Given the description of an element on the screen output the (x, y) to click on. 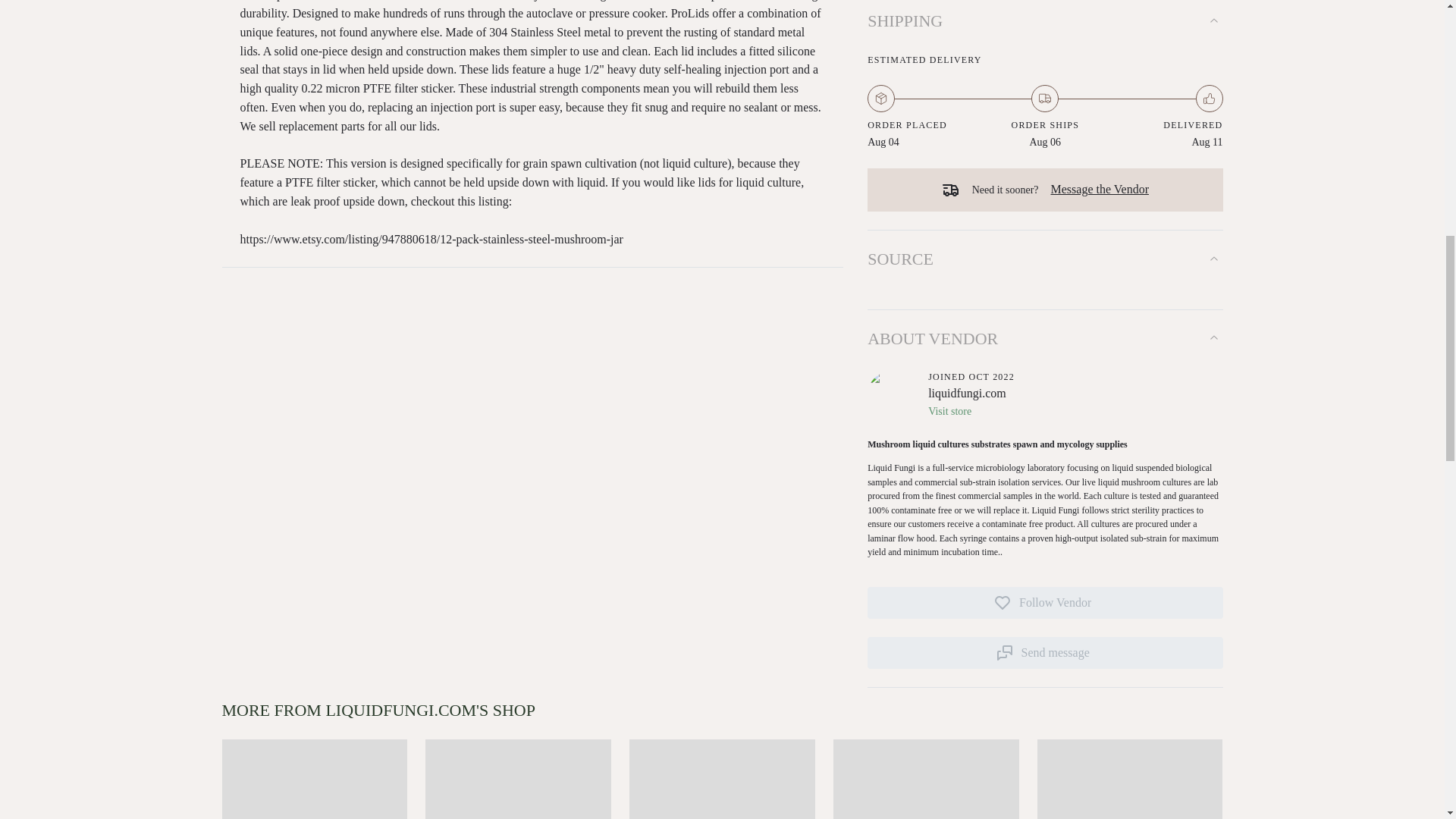
SHIPPING (1045, 24)
Visit store (971, 411)
SOURCE (1045, 259)
Follow Vendor (1045, 603)
ABOUT VENDOR (1045, 338)
Send message (1045, 653)
Message the Vendor (1099, 189)
